Given the description of an element on the screen output the (x, y) to click on. 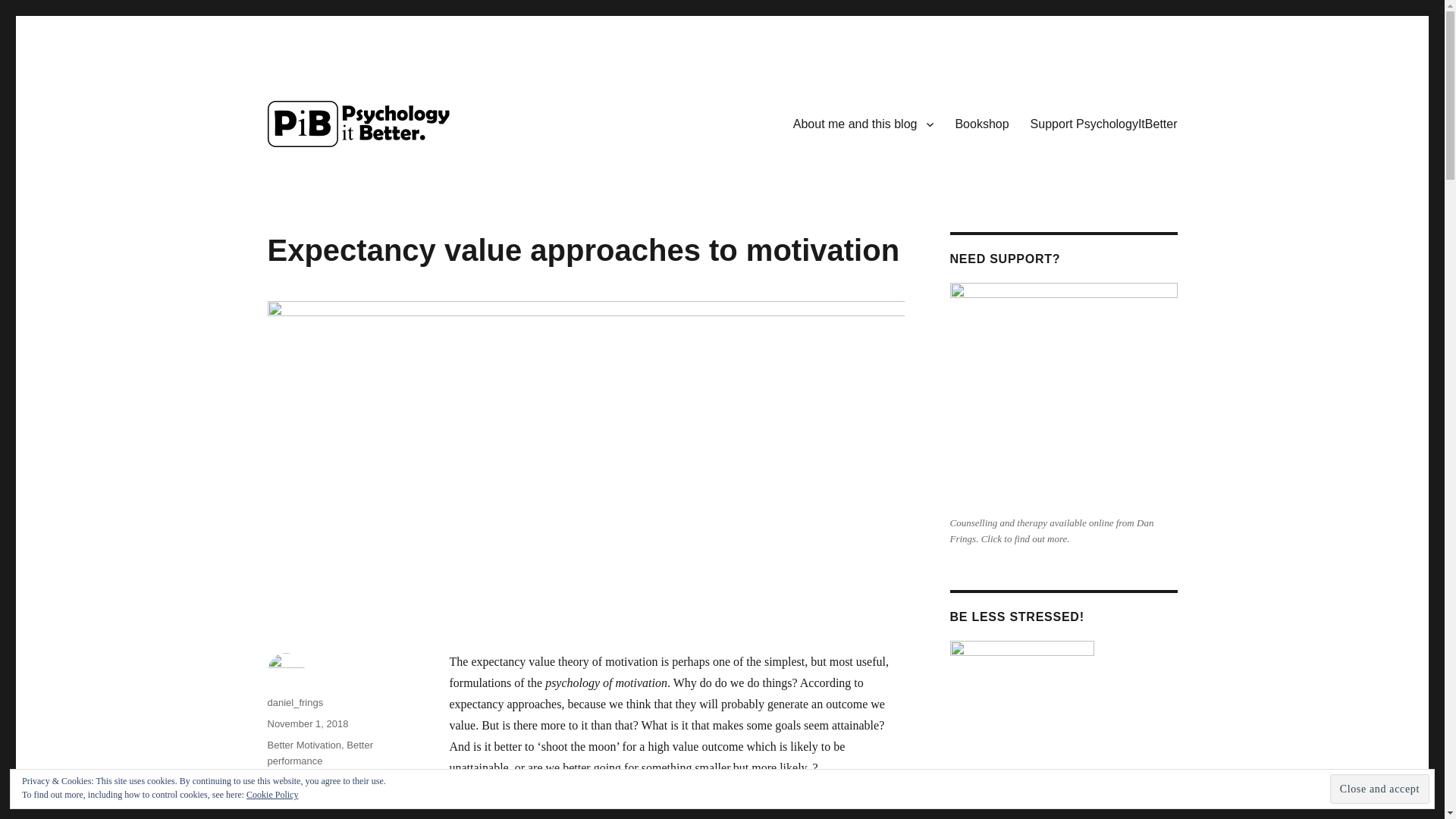
Better Motivation (303, 745)
motivation (288, 797)
Better performance (319, 752)
November 1, 2018 (306, 723)
Close and accept (1379, 788)
expectancies (341, 781)
Support PsychologyItBetter (1104, 123)
Bookshop (981, 123)
Need support? (1062, 396)
aligncenter (1021, 729)
values (280, 813)
cognition (285, 781)
PsychologyItBetter (363, 170)
performance (344, 797)
About me and this blog (863, 123)
